Given the description of an element on the screen output the (x, y) to click on. 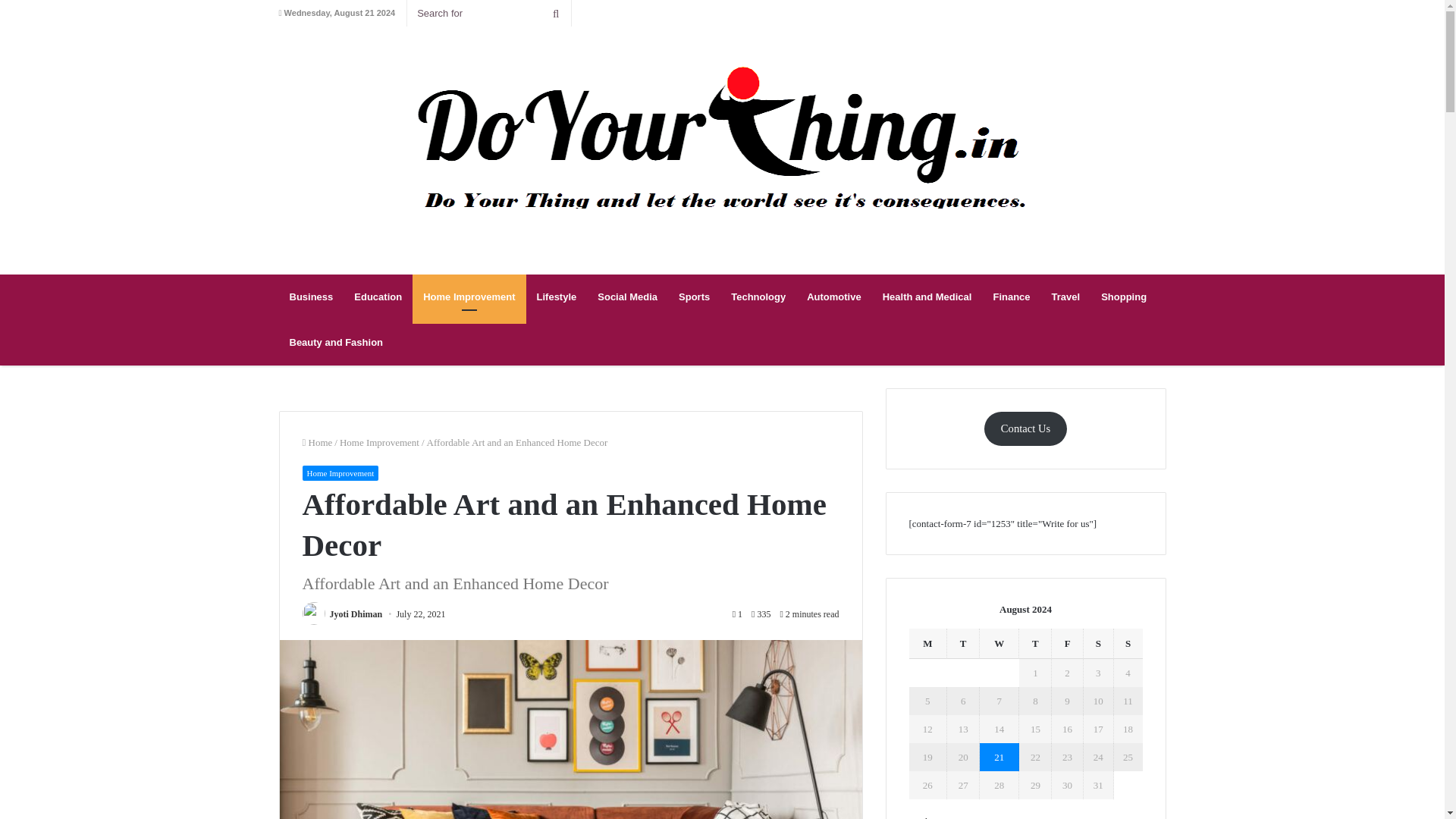
Monday (927, 643)
Home Improvement (379, 441)
Finance (1011, 297)
Automotive (834, 297)
Jyoti Dhiman (355, 614)
Social Media (627, 297)
Search for (488, 13)
Tuesday (963, 643)
Sports (694, 297)
Home Improvement (339, 473)
